Given the description of an element on the screen output the (x, y) to click on. 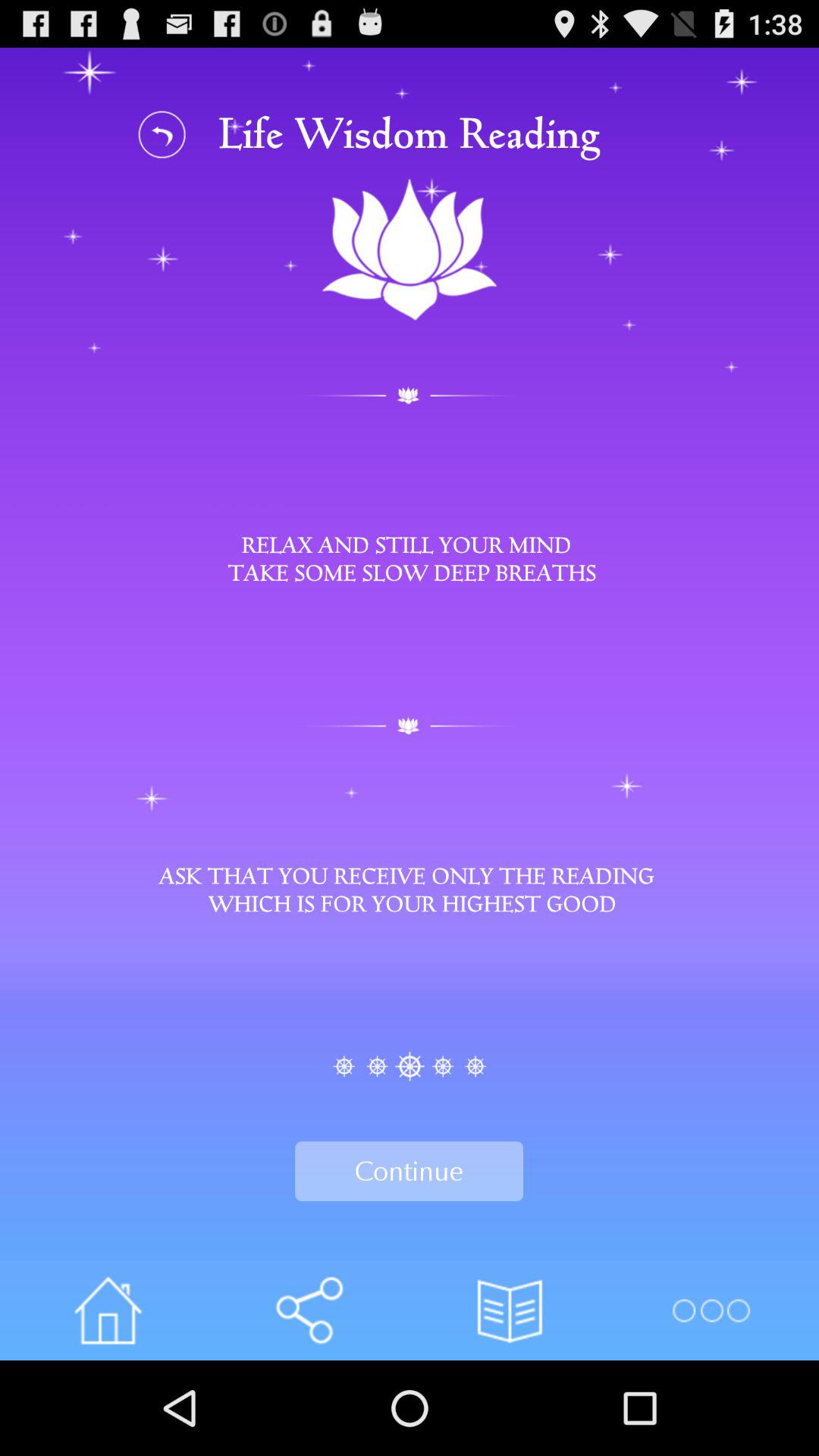
go home (107, 1310)
